Given the description of an element on the screen output the (x, y) to click on. 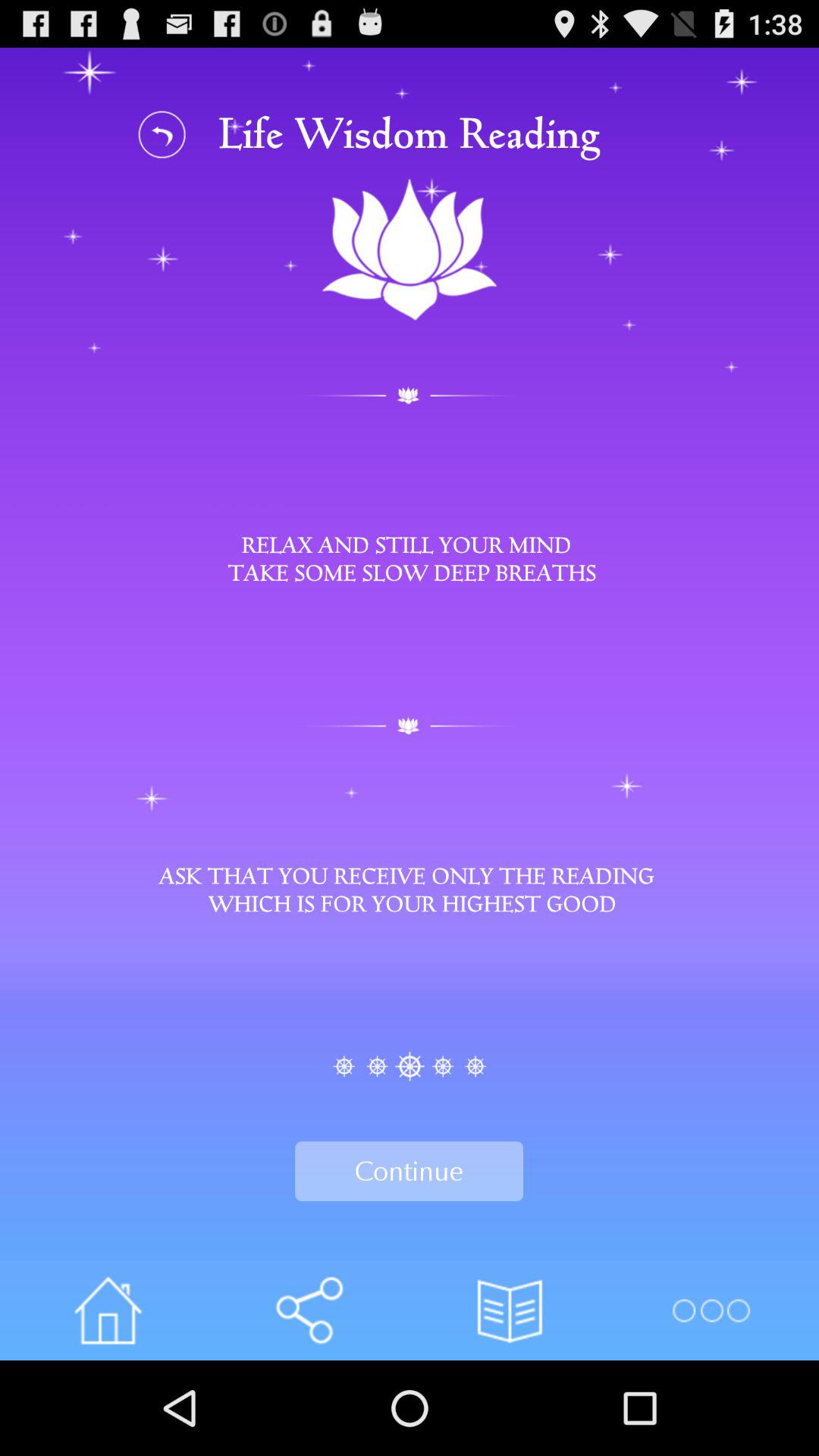
go home (107, 1310)
